Given the description of an element on the screen output the (x, y) to click on. 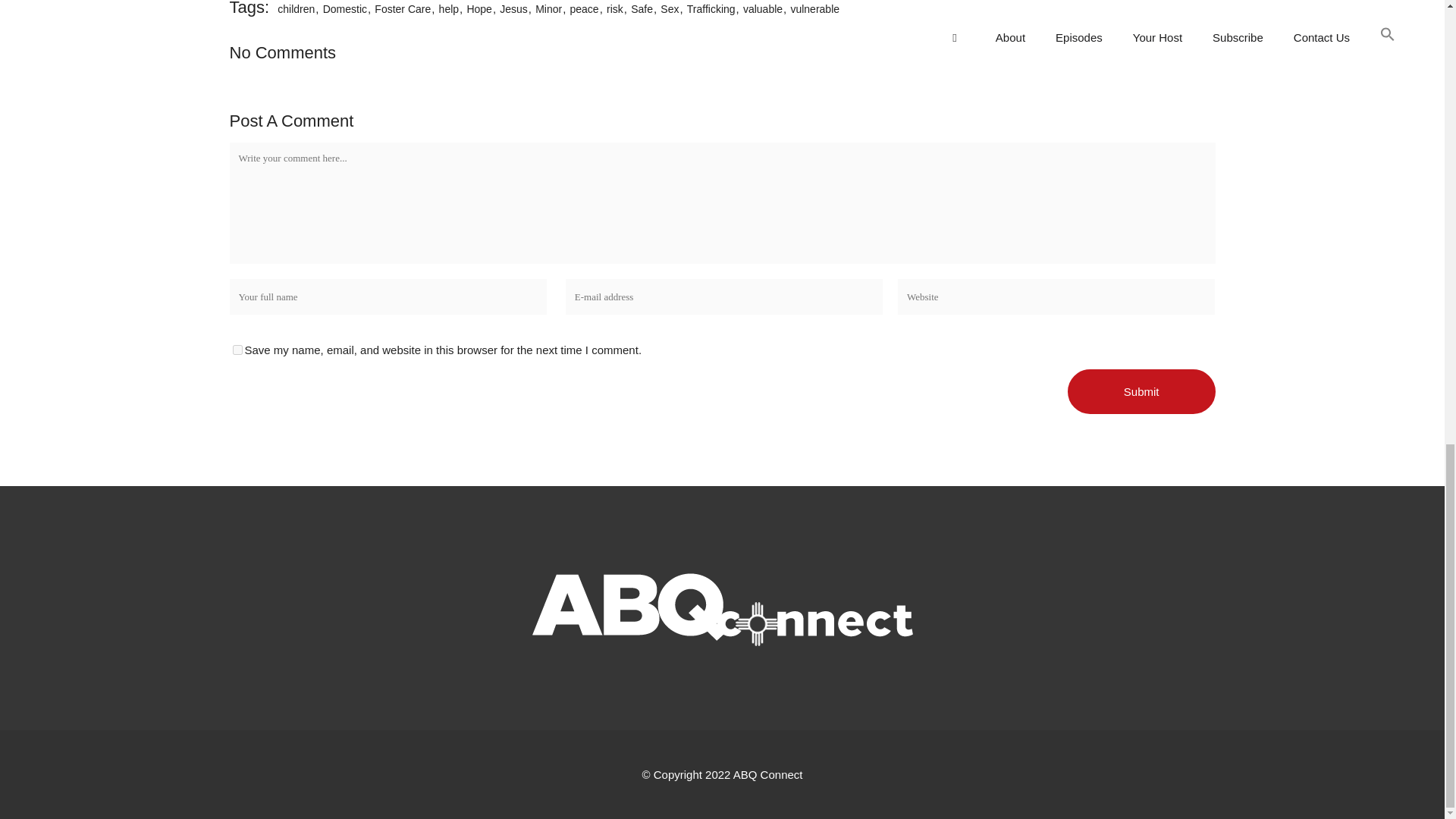
Hope (478, 9)
Submit (1141, 391)
help (449, 9)
risk (614, 9)
Domestic (344, 9)
Jesus (513, 9)
Foster Care (402, 9)
Minor (548, 9)
children (295, 9)
yes (236, 349)
